Given the description of an element on the screen output the (x, y) to click on. 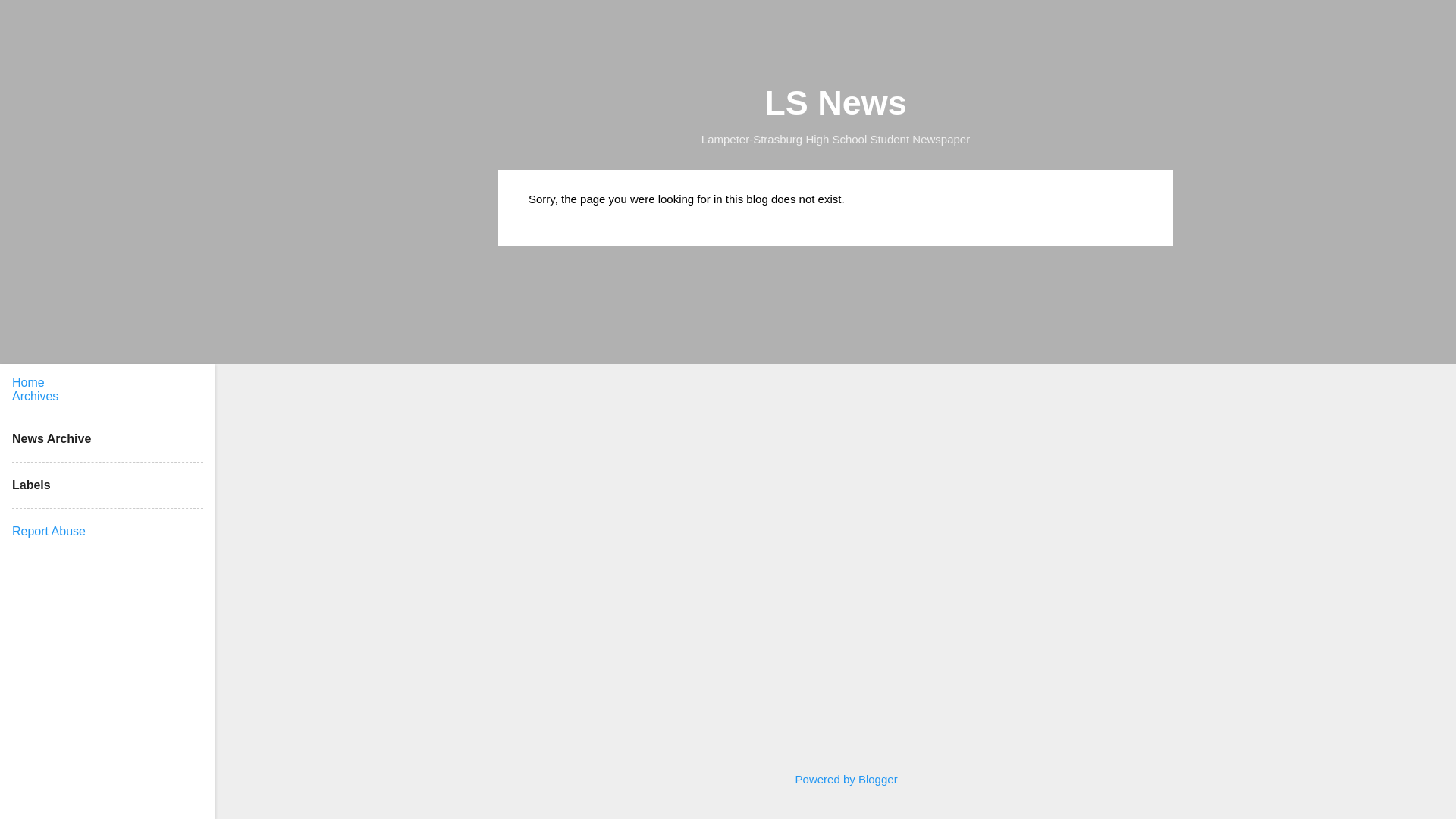
Archives (34, 395)
Powered by Blogger (834, 779)
Home (28, 382)
LS News (835, 102)
Search (29, 18)
